Given the description of an element on the screen output the (x, y) to click on. 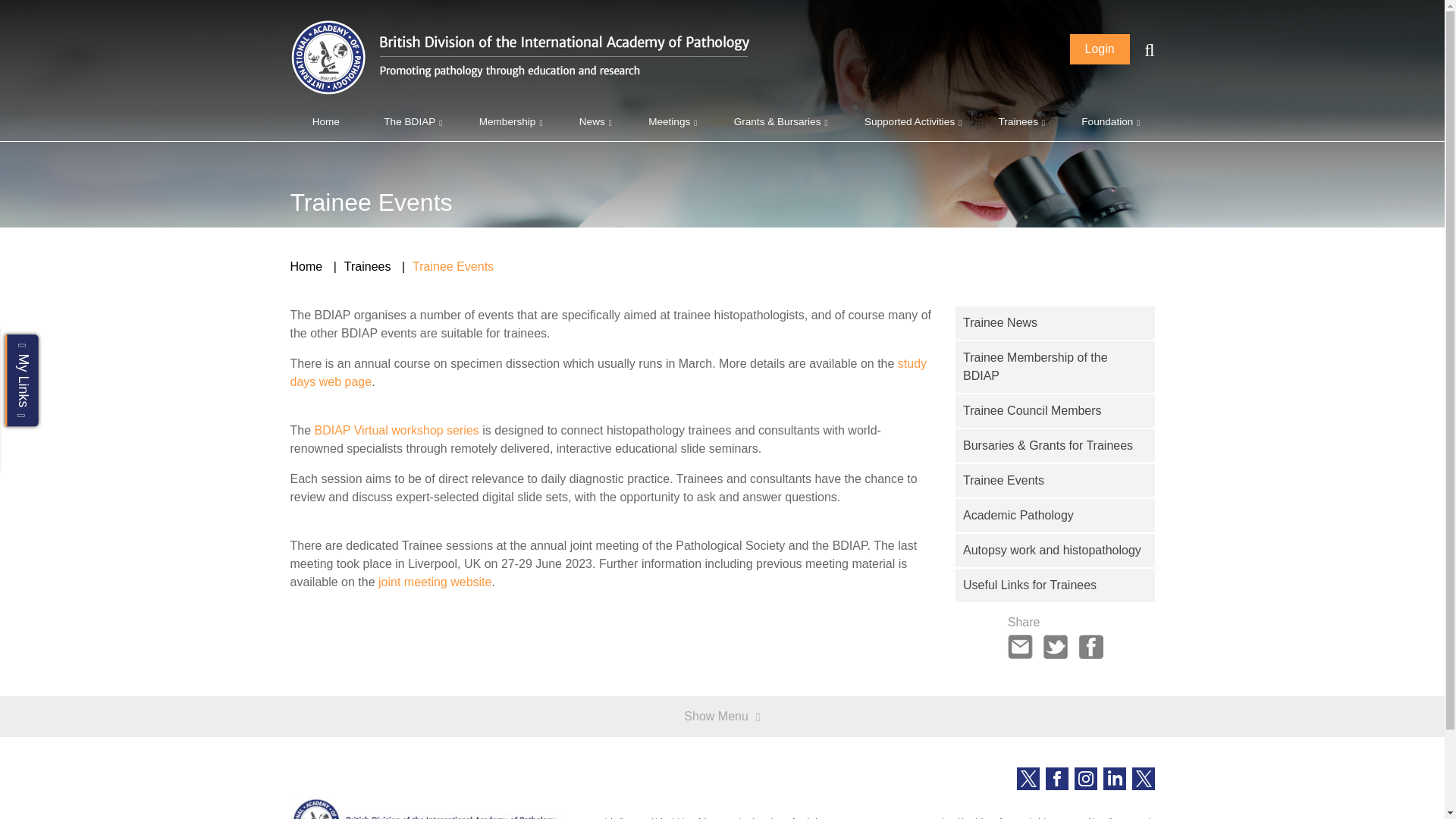
BDIAP Twitter (1027, 777)
Facebook (1056, 777)
Membership (506, 121)
Instagram (1085, 777)
Histopathology Twitter (1142, 777)
Share on Twitter (1055, 645)
Skip to main content (21, 21)
Share by Email (1020, 645)
Login (1099, 49)
The BDIAP (409, 121)
Share on Facebook (1090, 645)
Meetings (668, 121)
Home (325, 121)
News (591, 121)
LinkedIn (1113, 777)
